Given the description of an element on the screen output the (x, y) to click on. 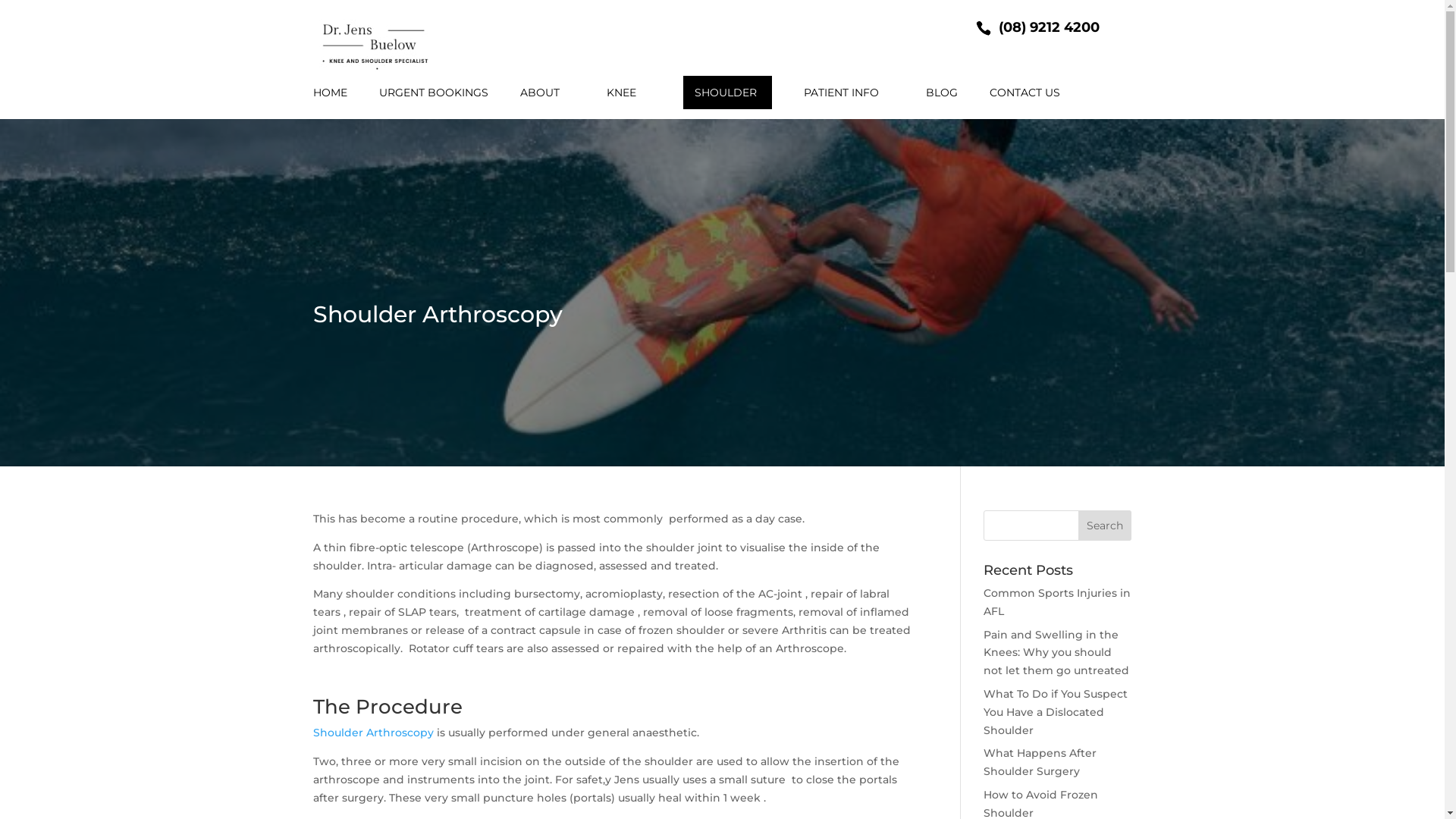
HOME Element type: text (329, 103)
What Happens After Shoulder Surgery Element type: text (1039, 762)
What To Do if You Suspect You Have a Dislocated Shoulder Element type: text (1055, 712)
URGENT BOOKINGS Element type: text (433, 103)
Search Element type: text (1104, 525)
KNEE Element type: text (628, 103)
Common Sports Injuries in AFL Element type: text (1056, 602)
CONTACT US Element type: text (1031, 103)
ABOUT Element type: text (547, 103)
(08) 9212 4200 Element type: text (1048, 27)
SHOULDER Element type: text (726, 92)
PATIENT INFO Element type: text (848, 103)
BLOG Element type: text (941, 103)
Shoulder Arthroscopy Element type: text (372, 732)
